Given the description of an element on the screen output the (x, y) to click on. 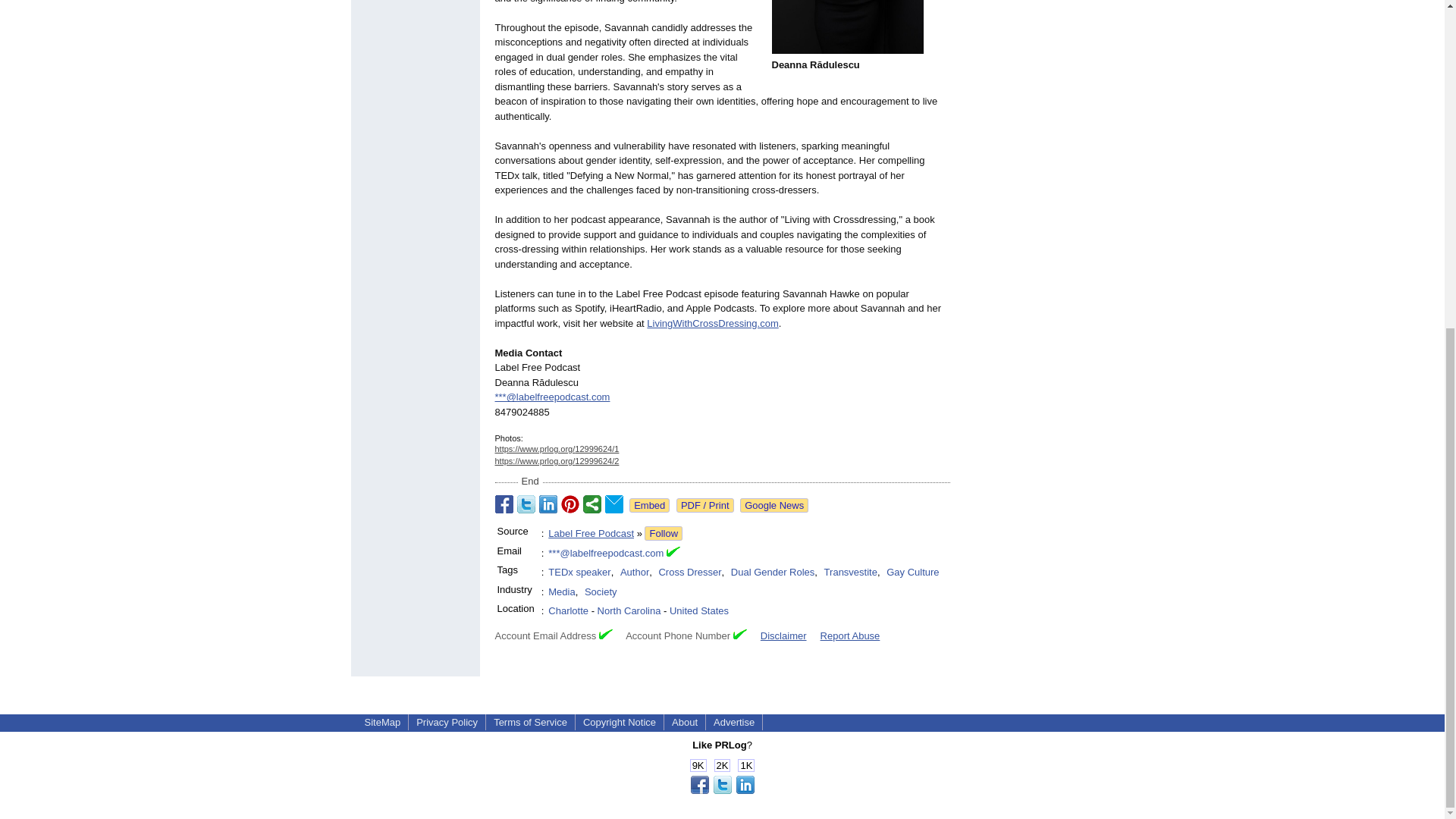
Email Verified (672, 553)
Verified (739, 634)
Share on Facebook (503, 504)
LivingWithCrossDressing.com (711, 323)
Share on StumbleUpon, Digg, etc (590, 504)
Share on LinkedIn (547, 504)
Share on Pinterest (569, 504)
Embed (648, 504)
Embed this press release in your website! (648, 504)
See or print the PDF version! (705, 504)
Share this page! (722, 790)
Email to a Friend (614, 504)
Share on Twitter (525, 504)
Verified (605, 634)
